Given the description of an element on the screen output the (x, y) to click on. 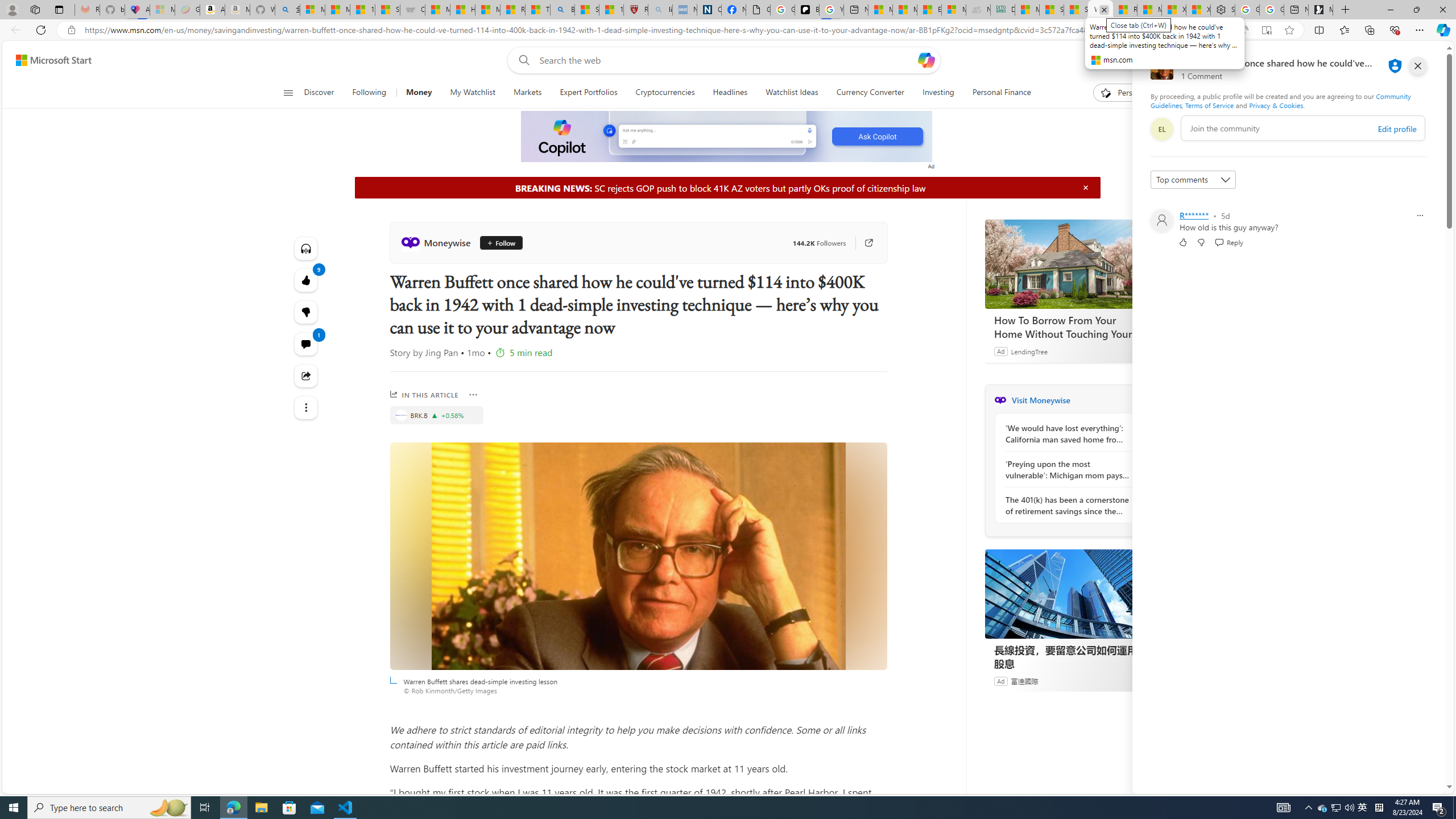
Hide (1084, 187)
Cryptocurrencies (665, 92)
Sort comments by (1193, 179)
Follow (497, 242)
